Given the description of an element on the screen output the (x, y) to click on. 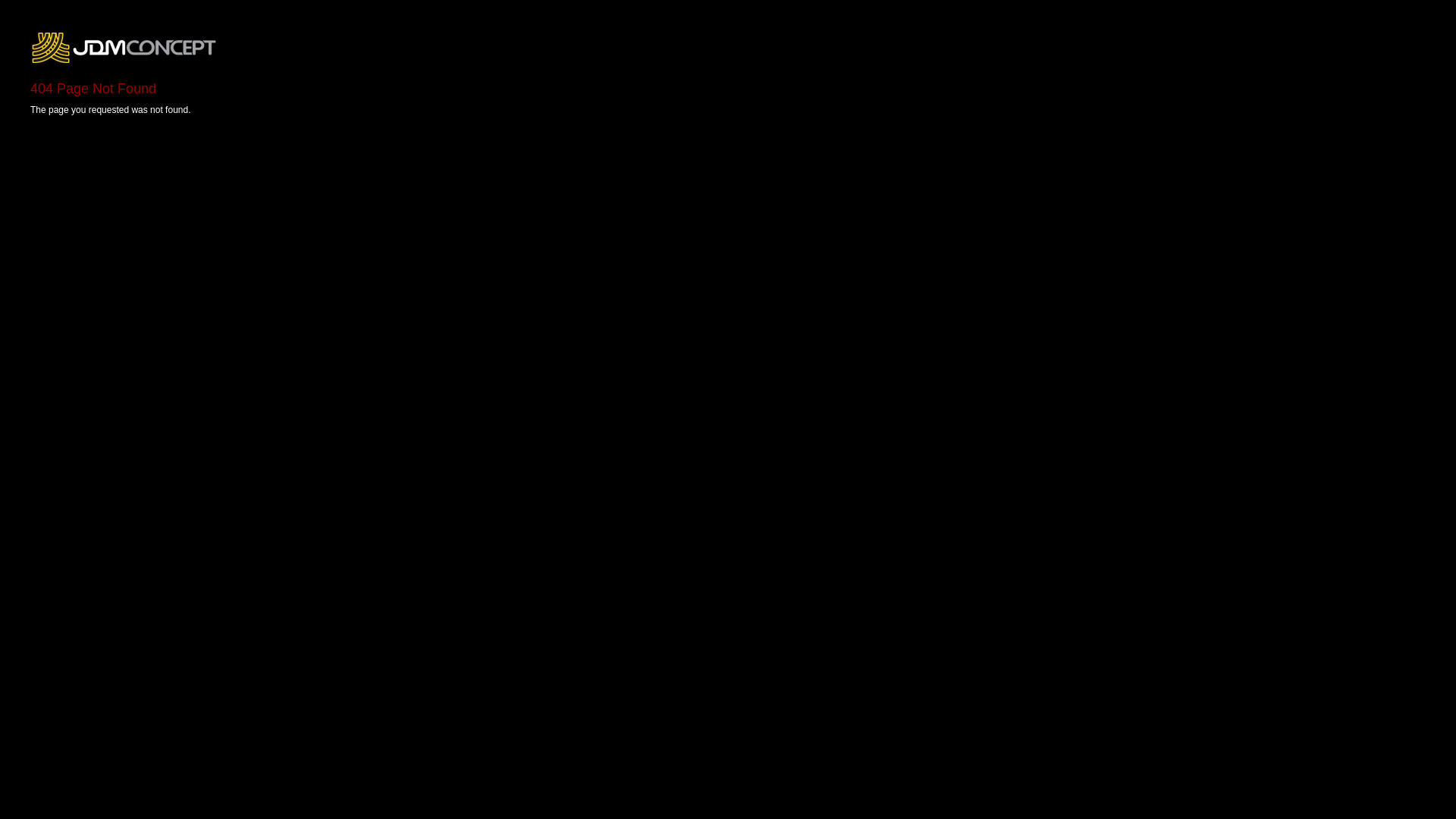
Jdmconcept Element type: text (124, 47)
